Given the description of an element on the screen output the (x, y) to click on. 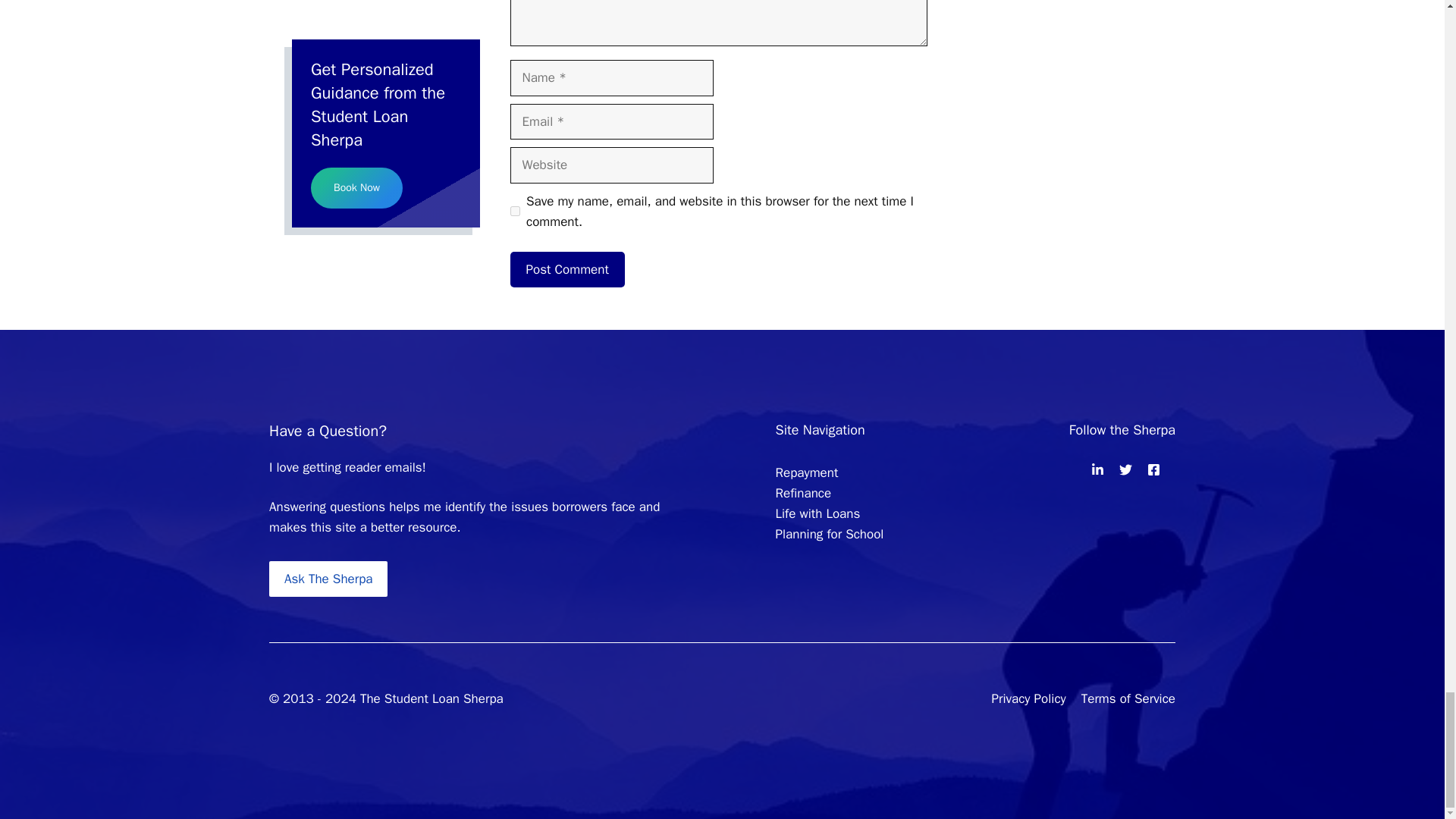
yes (514, 211)
Post Comment (566, 269)
